Given the description of an element on the screen output the (x, y) to click on. 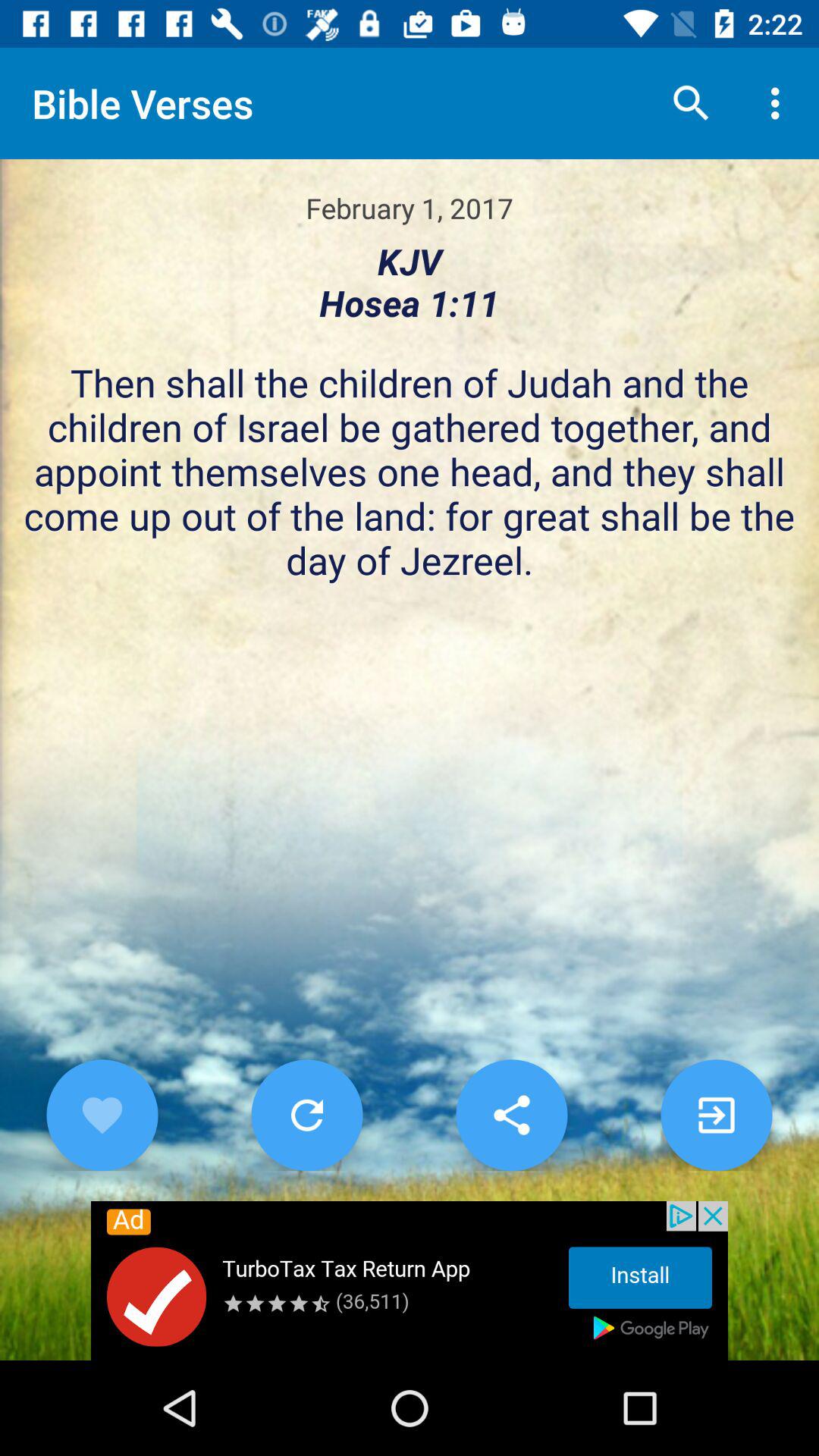
advertisement (409, 1280)
